Given the description of an element on the screen output the (x, y) to click on. 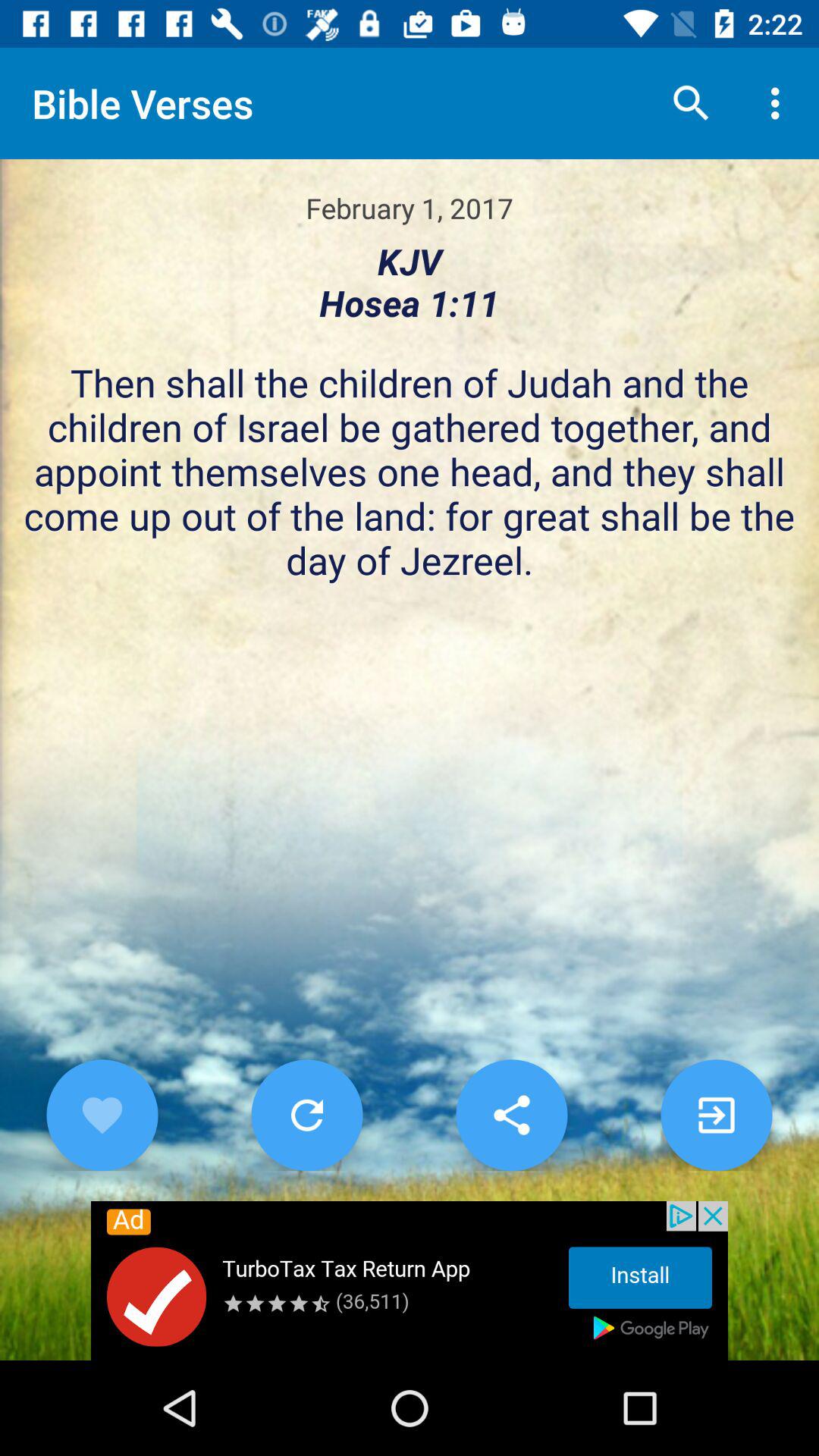
advertisement (409, 1280)
